Given the description of an element on the screen output the (x, y) to click on. 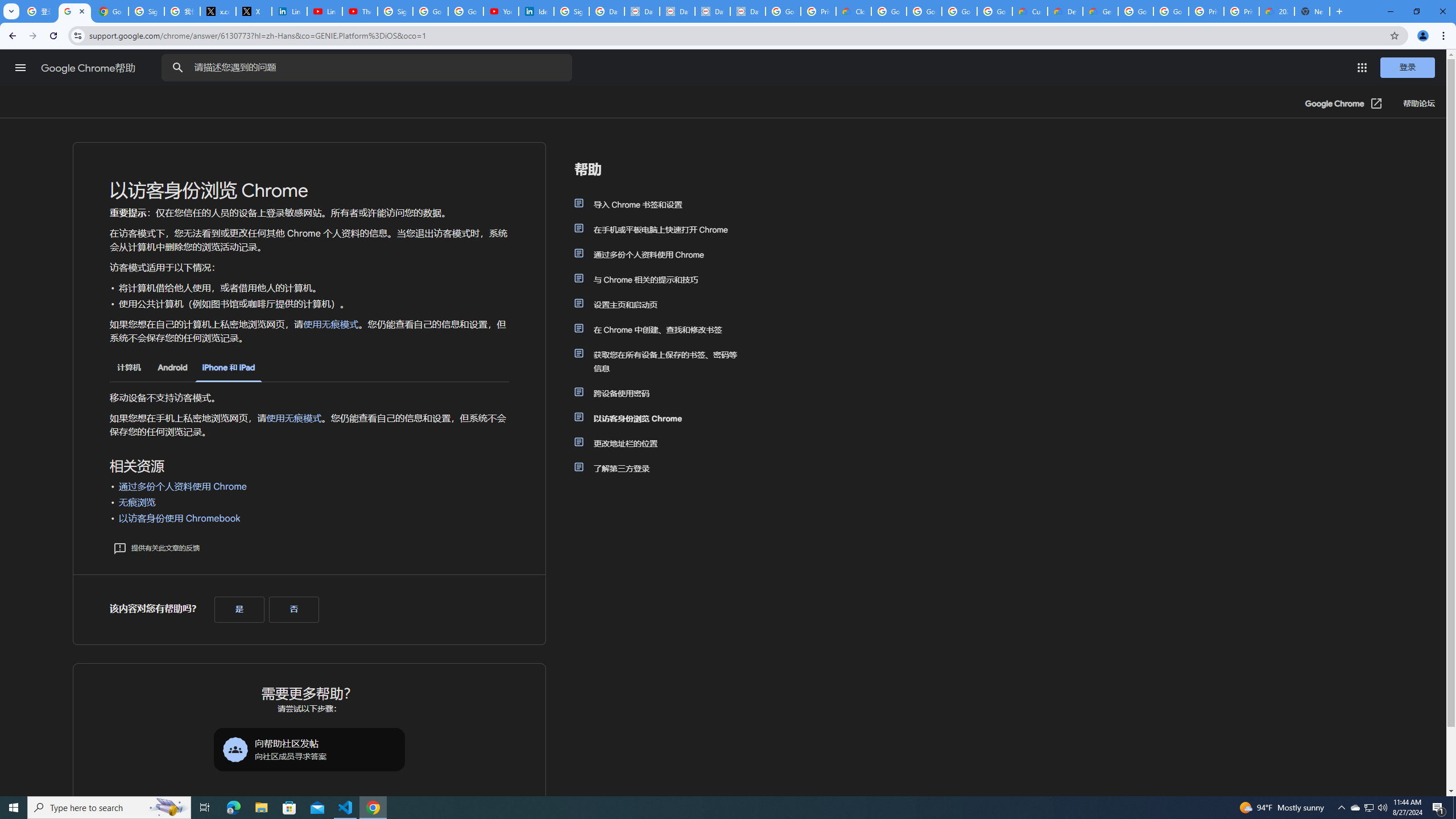
X (253, 11)
